Given the description of an element on the screen output the (x, y) to click on. 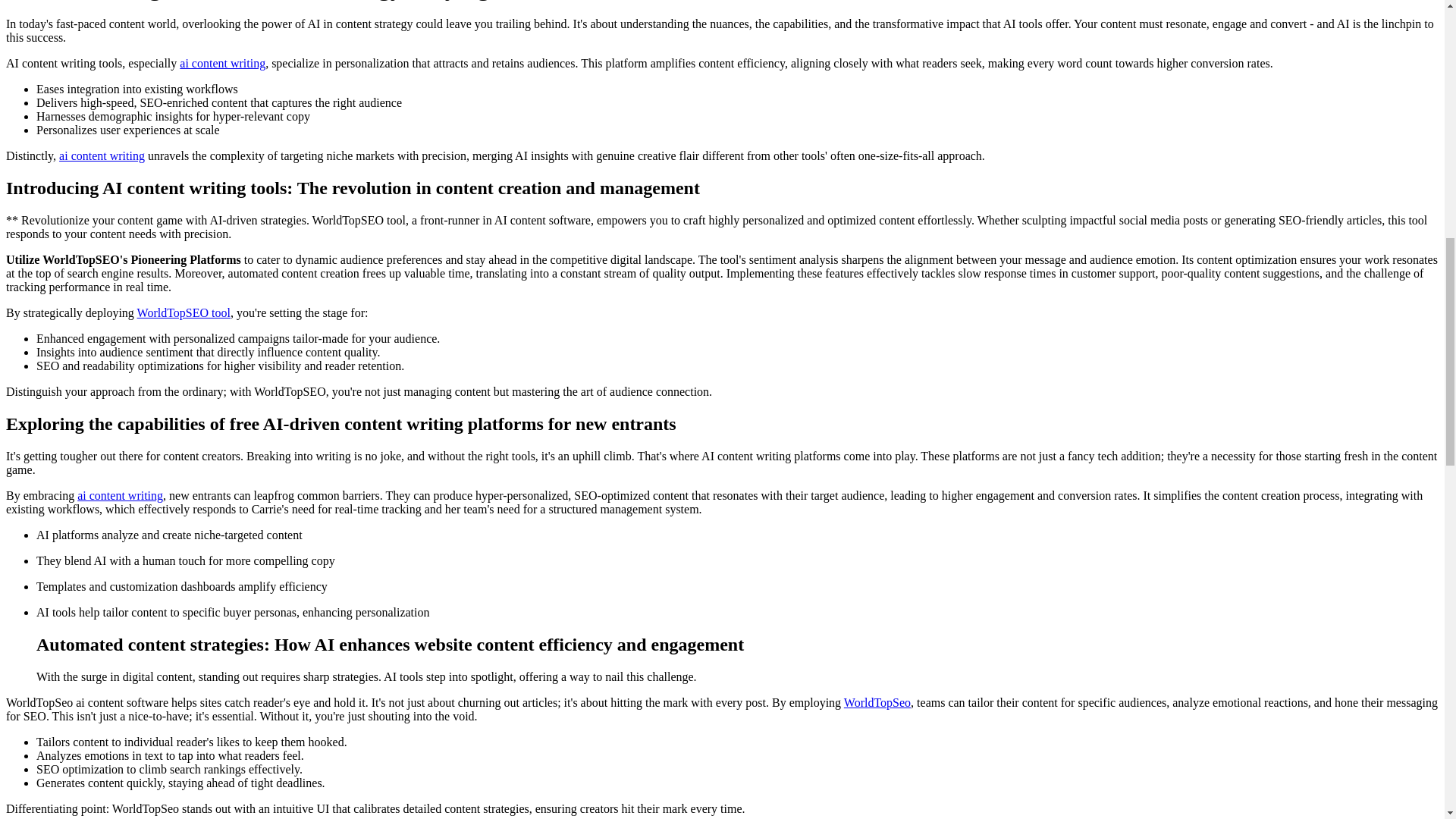
ai content writing (120, 495)
WorldTopSEO tool (183, 312)
ai content writing (101, 155)
WorldTopSeo (877, 702)
ai content writing (221, 62)
